Given the description of an element on the screen output the (x, y) to click on. 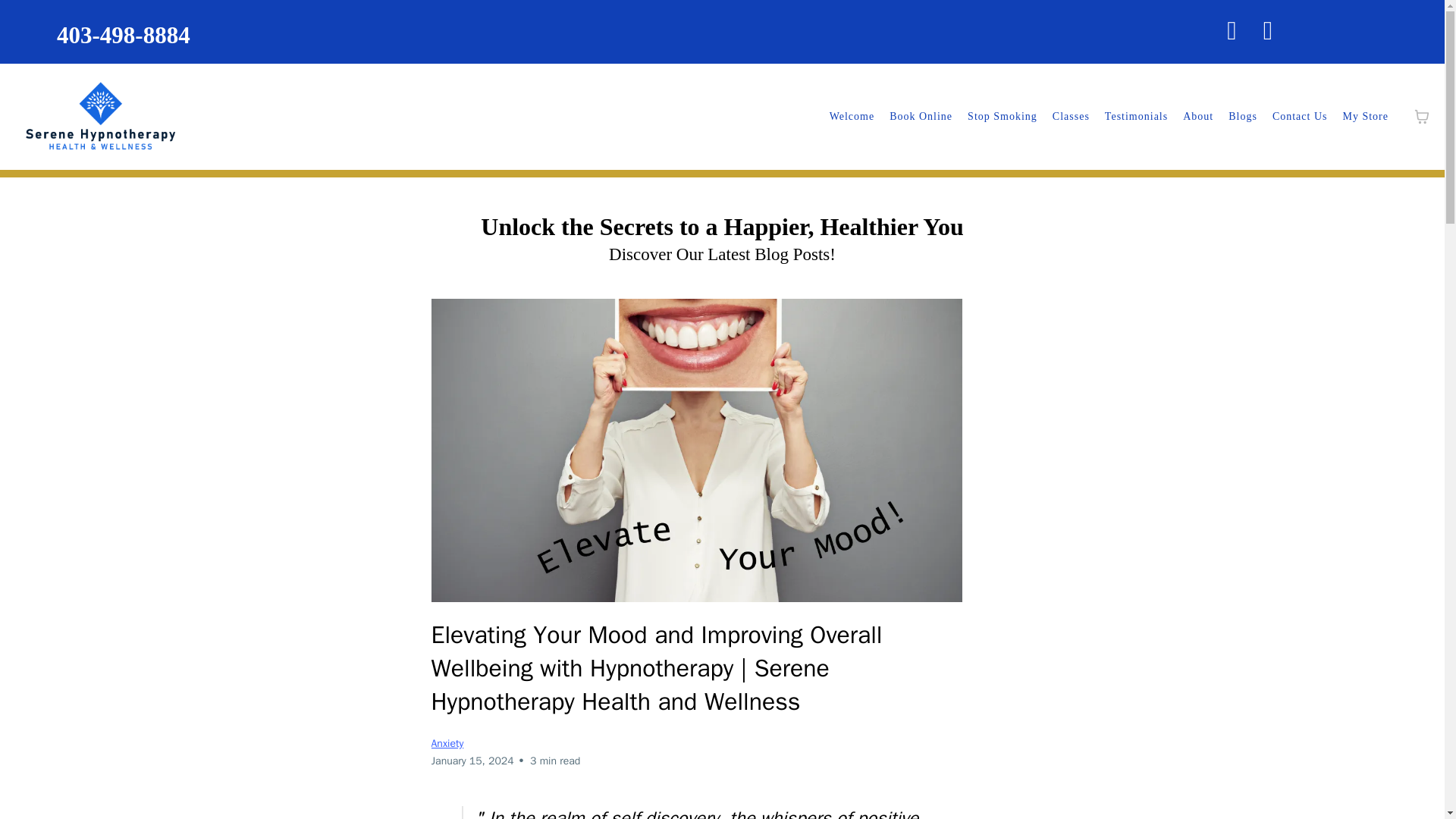
Blogs (1243, 117)
Classes (1071, 117)
Book Online (920, 117)
Contact Us (1300, 117)
Anxiety (446, 743)
About (1197, 117)
Welcome (852, 117)
Testimonials (1135, 117)
My Store (1365, 117)
Stop Smoking (1002, 117)
